Given the description of an element on the screen output the (x, y) to click on. 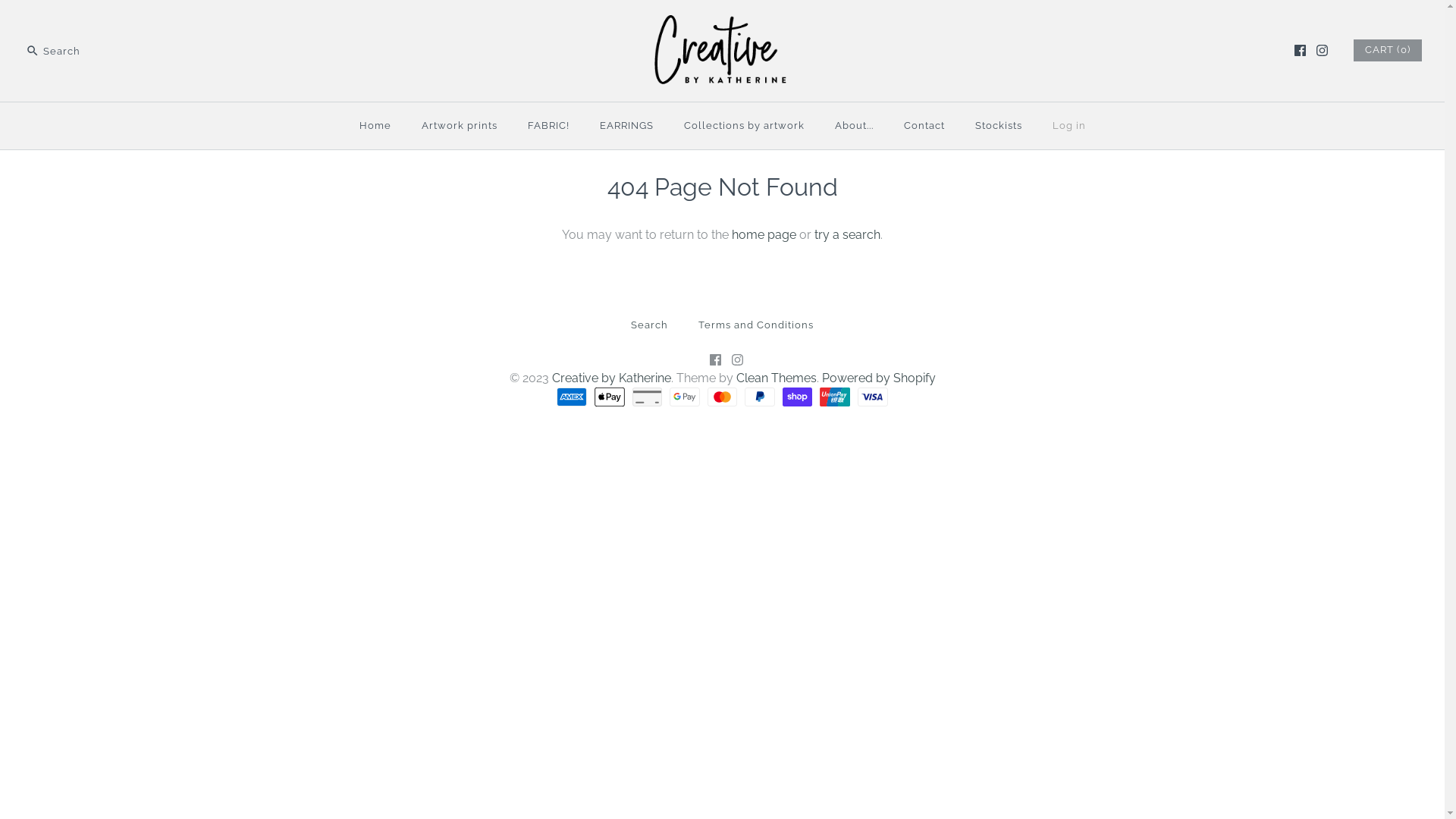
Stockists Element type: text (998, 125)
About... Element type: text (853, 125)
home page Element type: text (763, 234)
FABRIC! Element type: text (548, 125)
Search Element type: text (649, 325)
Powered by Shopify Element type: text (878, 377)
Log in Element type: text (1068, 125)
Instagram Element type: text (1321, 50)
EARRINGS Element type: text (625, 125)
Terms and Conditions Element type: text (755, 325)
Facebook Element type: text (715, 359)
Home Element type: text (374, 125)
Creative by Katherine Element type: hover (721, 24)
Contact Element type: text (924, 125)
Facebook Element type: text (1299, 50)
Collections by artwork Element type: text (744, 125)
Instagram Element type: text (736, 359)
try a search Element type: text (847, 234)
CART (0) Element type: text (1387, 50)
Clean Themes Element type: text (775, 377)
Artwork prints Element type: text (459, 125)
Creative by Katherine Element type: text (611, 377)
